Given the description of an element on the screen output the (x, y) to click on. 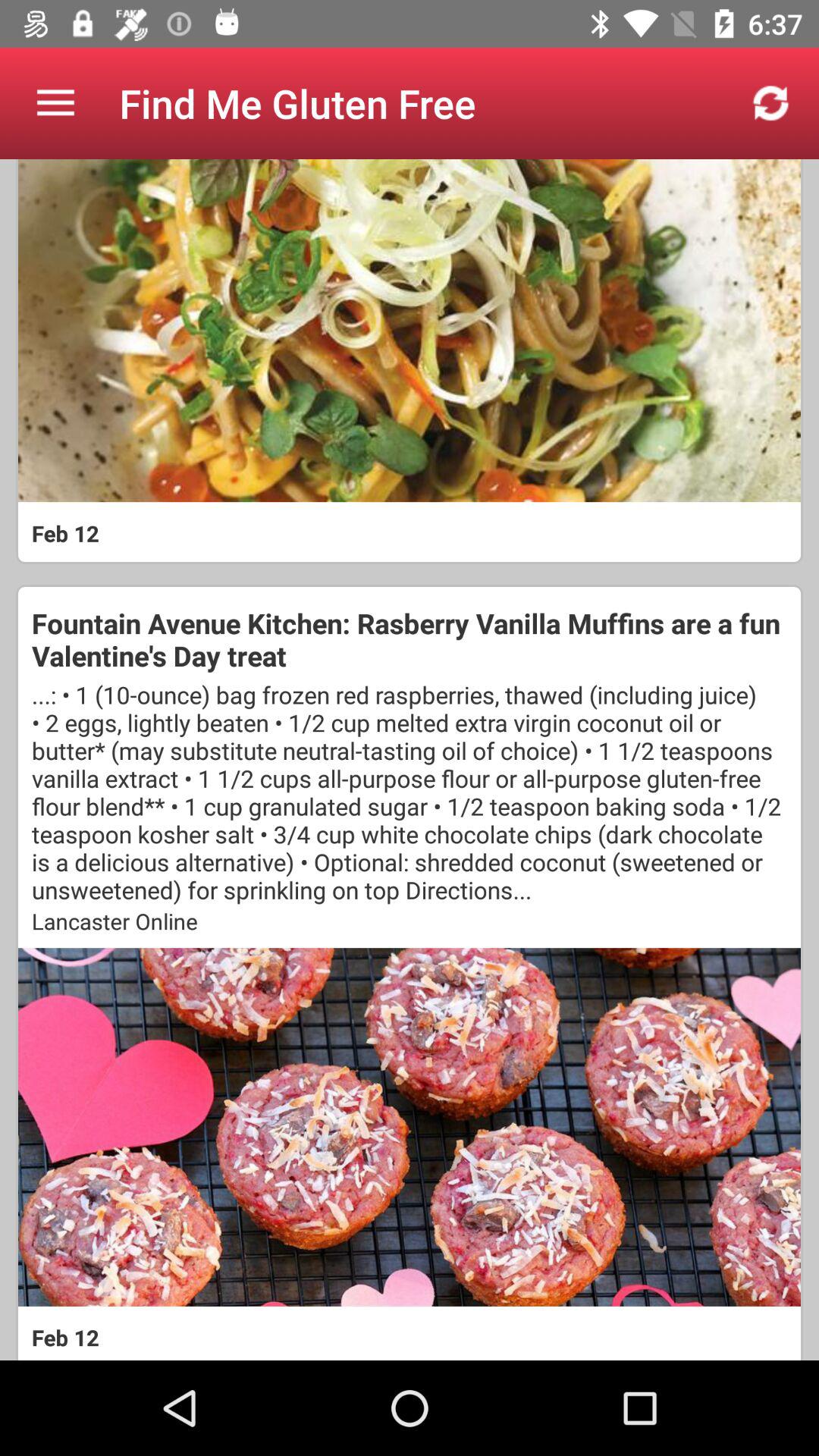
flip to the 1 10 ounce item (409, 792)
